Given the description of an element on the screen output the (x, y) to click on. 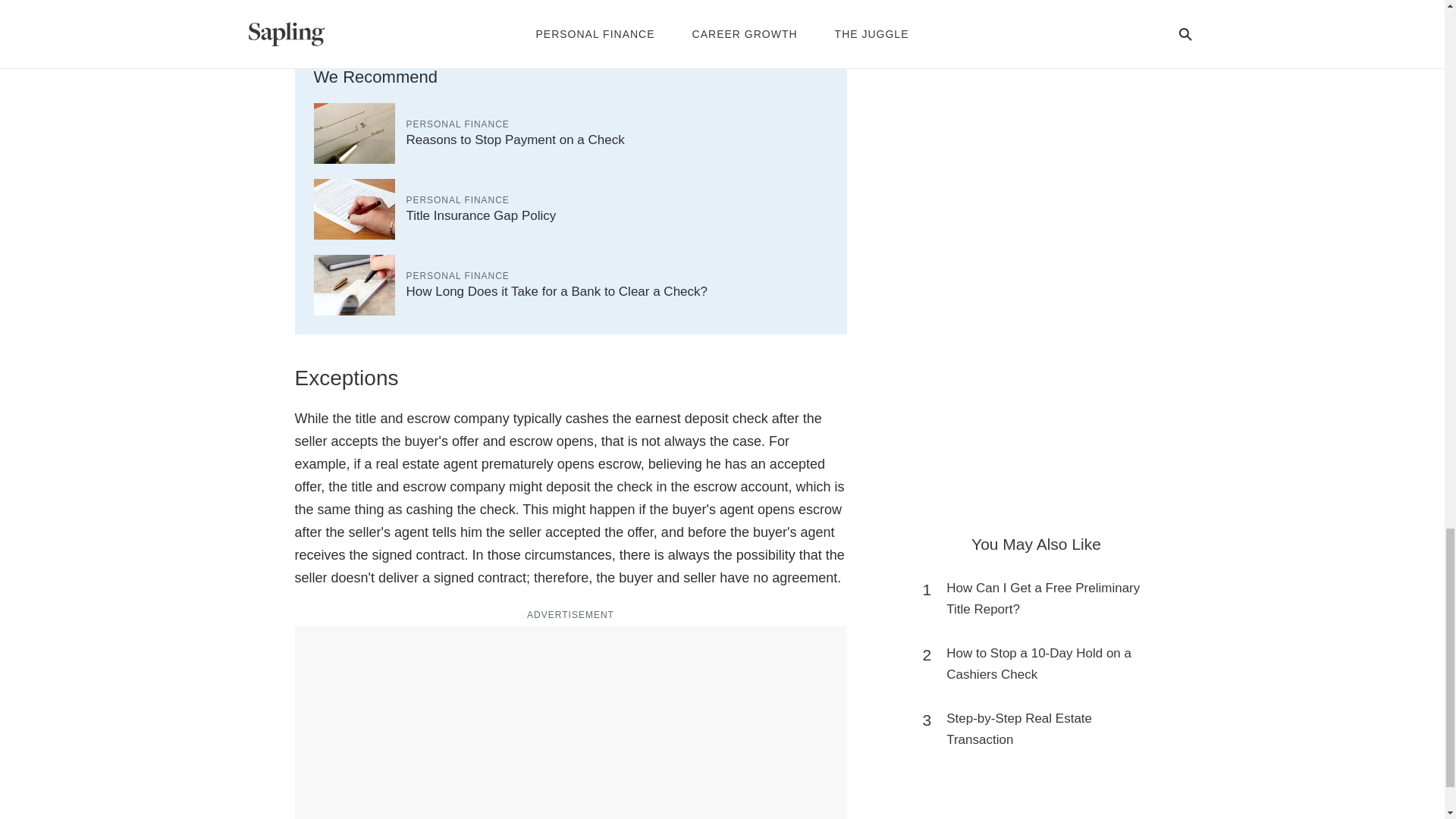
How Long Does it Take for a Bank to Clear a Check? (556, 291)
Title Insurance Gap Policy (481, 215)
Reasons to Stop Payment on a Check (515, 139)
How Can I Get a Free Preliminary Title Report? (1043, 598)
Step-by-Step Real Estate Transaction (1043, 729)
How to Stop a 10-Day Hold on a Cashiers Check (1043, 663)
